Given the description of an element on the screen output the (x, y) to click on. 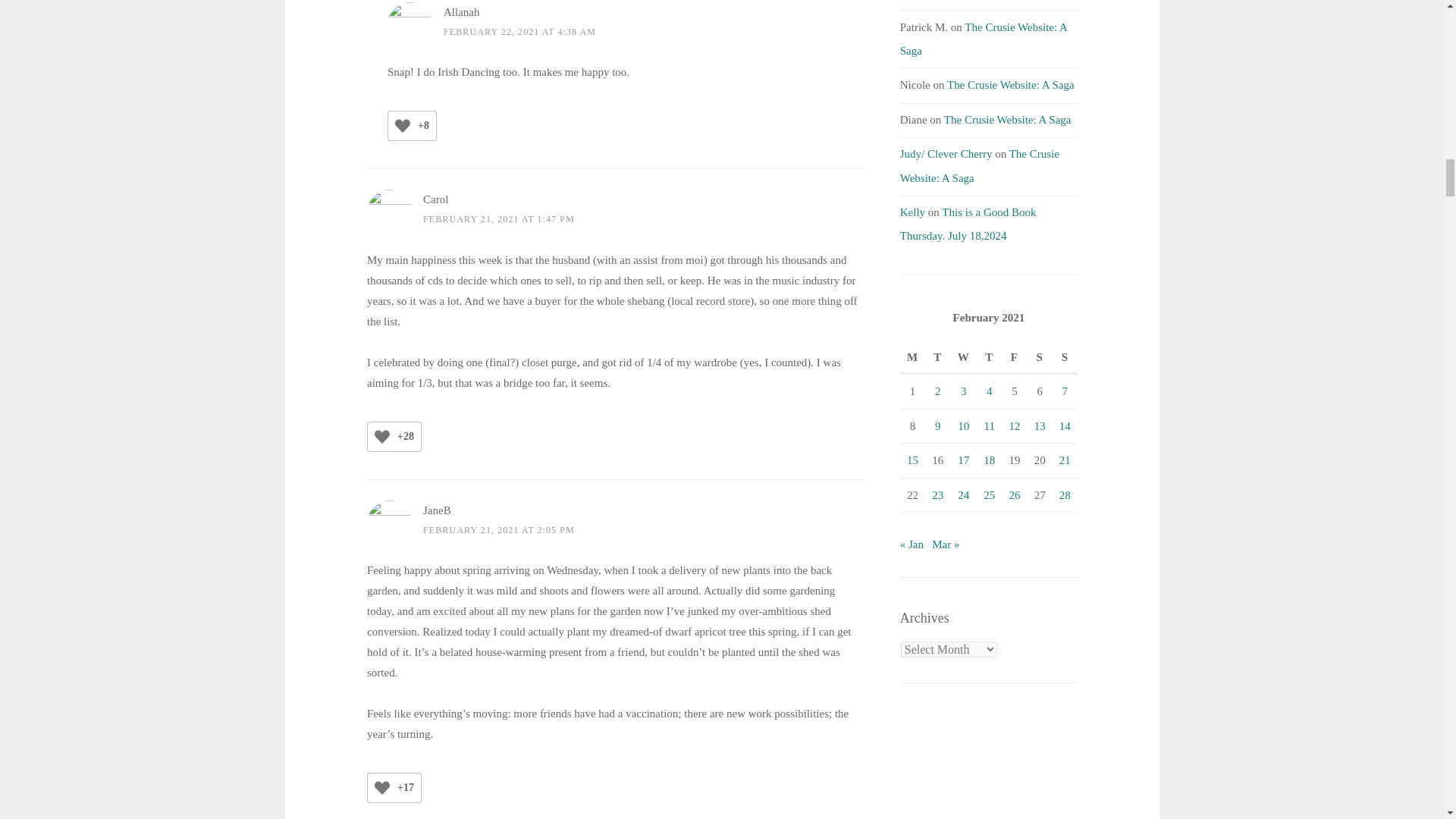
FEBRUARY 21, 2021 AT 1:47 PM (499, 218)
FEBRUARY 22, 2021 AT 4:38 AM (519, 31)
JaneB (437, 510)
